Given the description of an element on the screen output the (x, y) to click on. 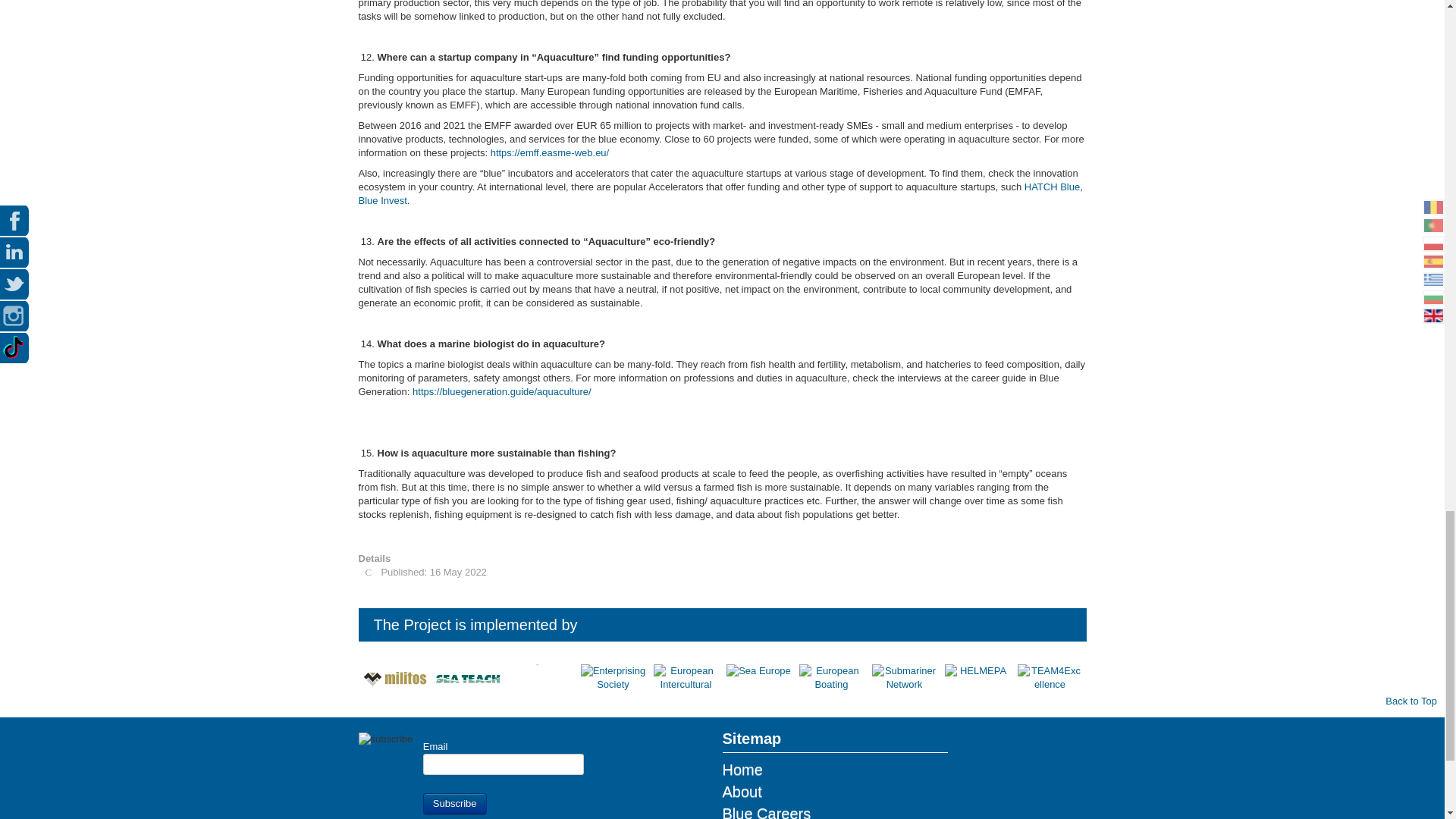
Blue Invest (382, 200)
Subscribe (454, 803)
HATCH Blue (1052, 186)
